Given the description of an element on the screen output the (x, y) to click on. 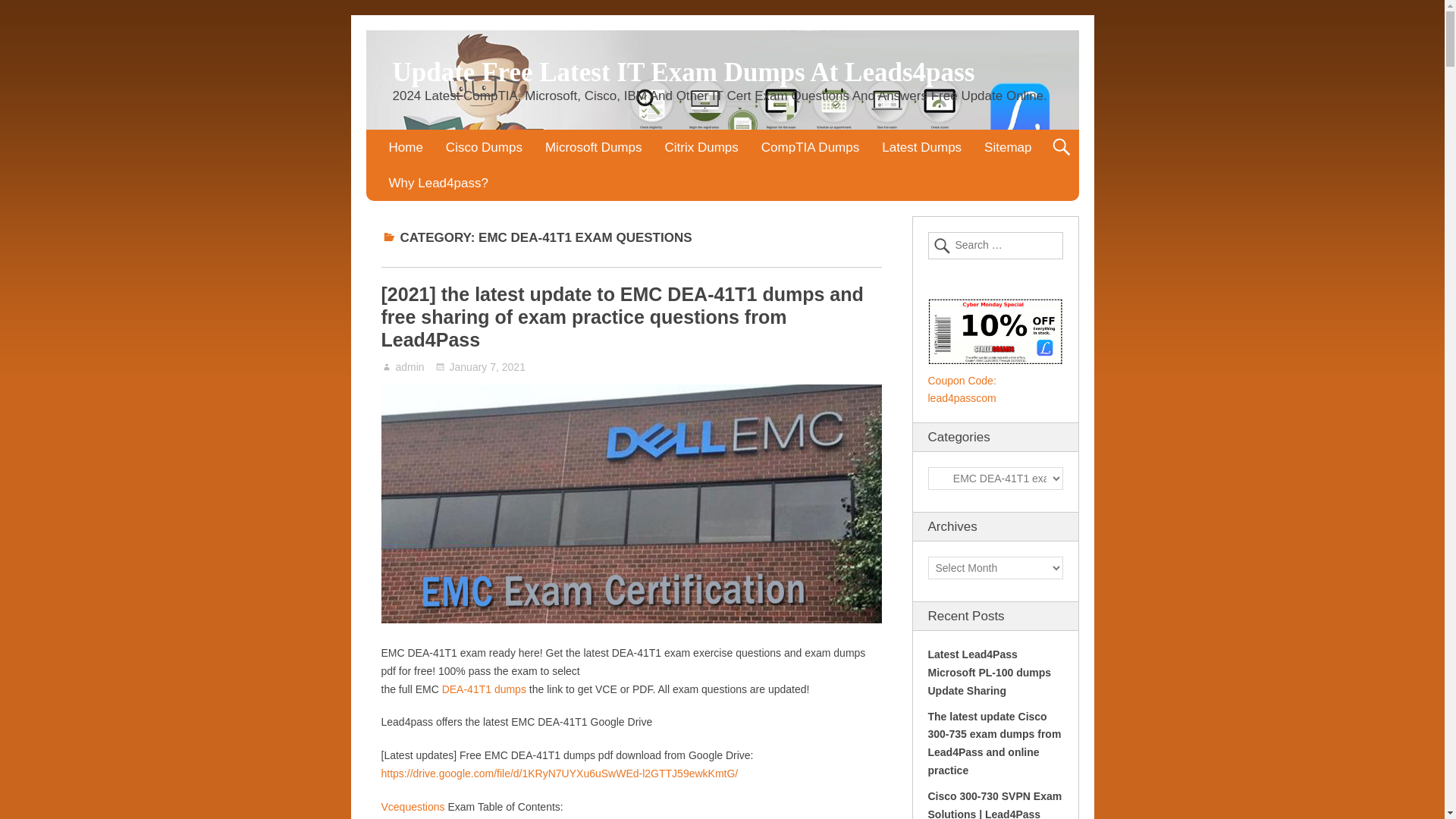
Why Lead4pass? (438, 182)
January 7, 2021 (480, 367)
Sitemap (1007, 147)
Posts by admin (410, 367)
DEA-41T1 dumps (483, 689)
Citrix Dumps (700, 147)
Cisco Dumps (483, 147)
Latest Dumps (921, 147)
admin (410, 367)
Home (405, 147)
CompTIA Dumps (809, 147)
Vcequestions (412, 806)
Update Free Latest IT Exam Dumps At Leads4pass (684, 71)
Coupon Code: lead4passcom (961, 389)
